Given the description of an element on the screen output the (x, y) to click on. 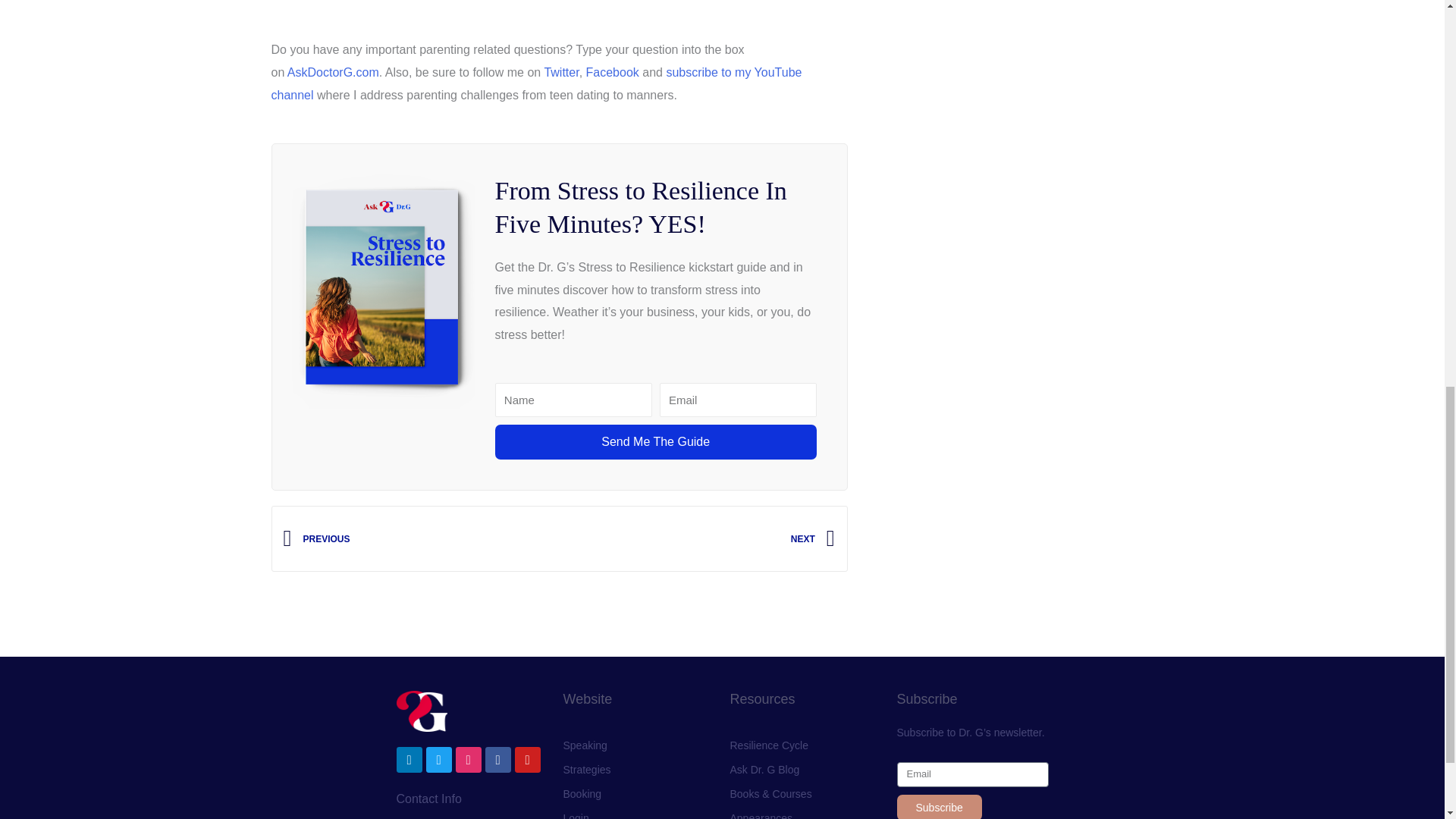
Twitter (560, 72)
 AskDoctorG.com (330, 72)
